Given the description of an element on the screen output the (x, y) to click on. 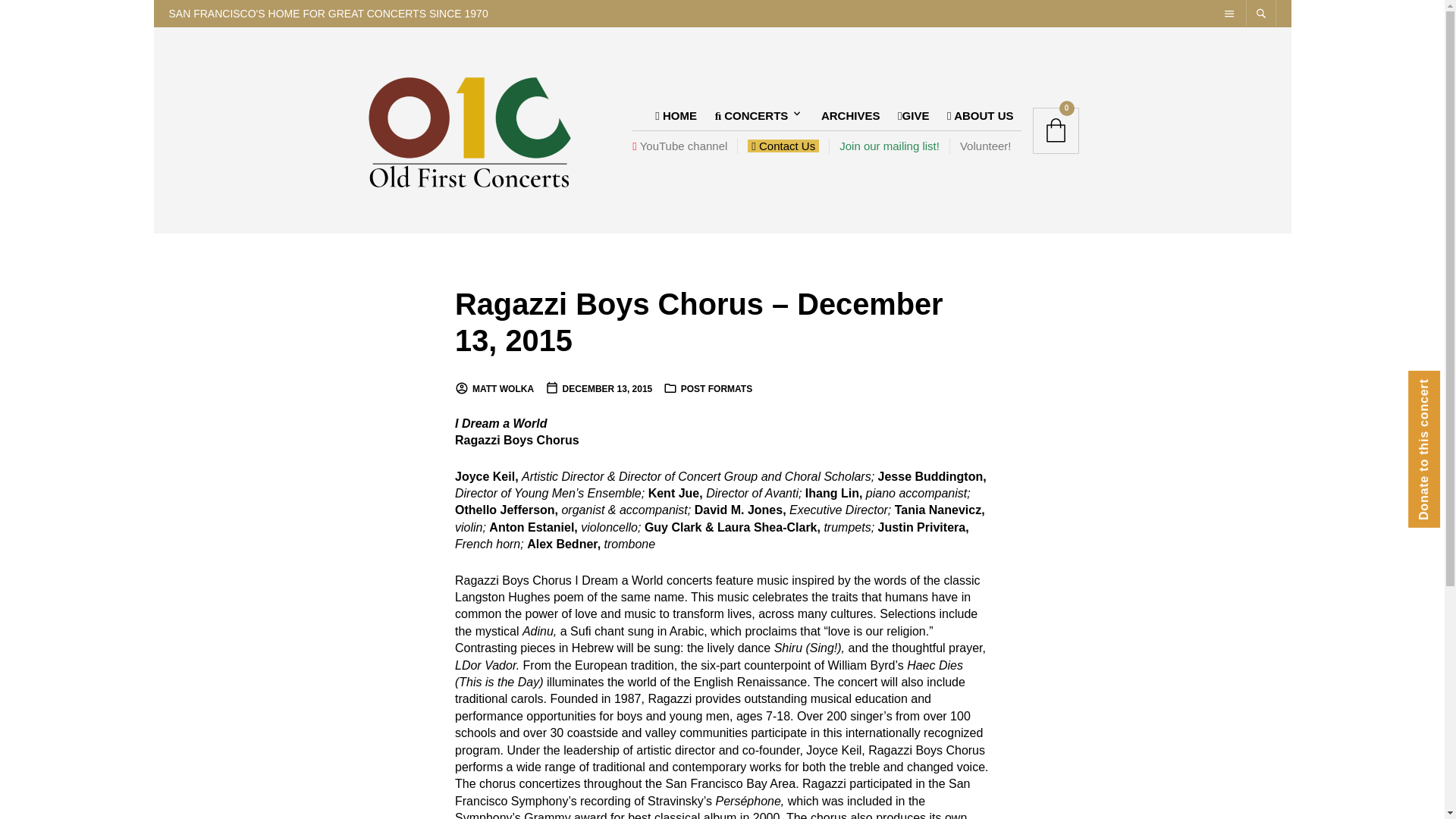
Join our mailing list! (888, 145)
YouTube channel (683, 145)
4:00 pm (598, 388)
Volunteer! (985, 145)
ABOUT US (979, 114)
0 (1055, 130)
CONCERTS (755, 114)
HOME (675, 114)
GIVE (912, 114)
POST FORMATS (716, 388)
MATT WOLKA (494, 388)
Contact Us (782, 145)
View all posts by Matt Wolka (494, 388)
ARCHIVES (850, 114)
DECEMBER 13, 2015 (598, 388)
